Given the description of an element on the screen output the (x, y) to click on. 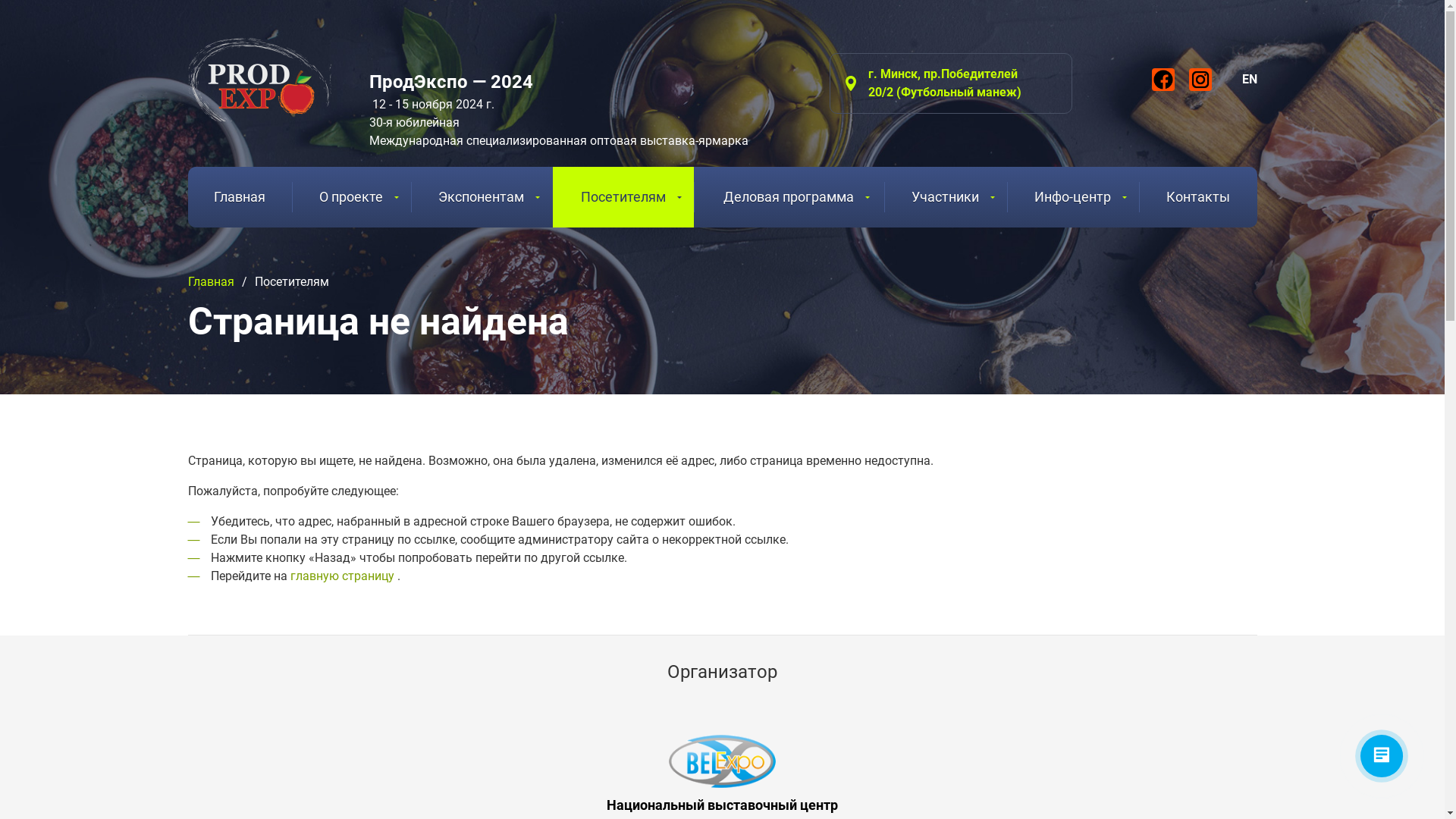
EN Element type: text (1249, 79)
ProdExpo Element type: text (259, 79)
